Given the description of an element on the screen output the (x, y) to click on. 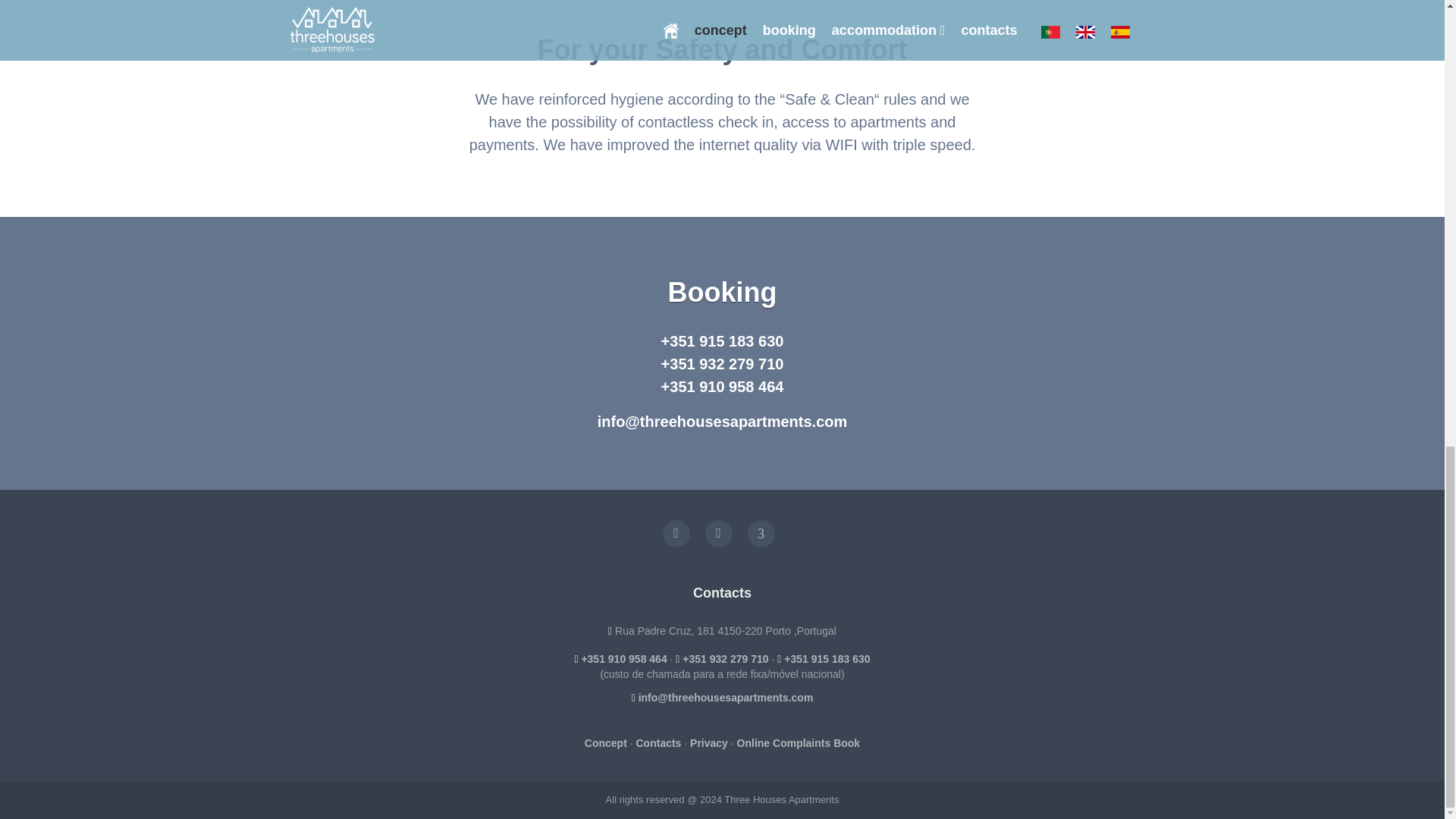
Contacts (657, 743)
Concept (606, 743)
Privacy (709, 743)
Online Complaints Book (798, 743)
